Given the description of an element on the screen output the (x, y) to click on. 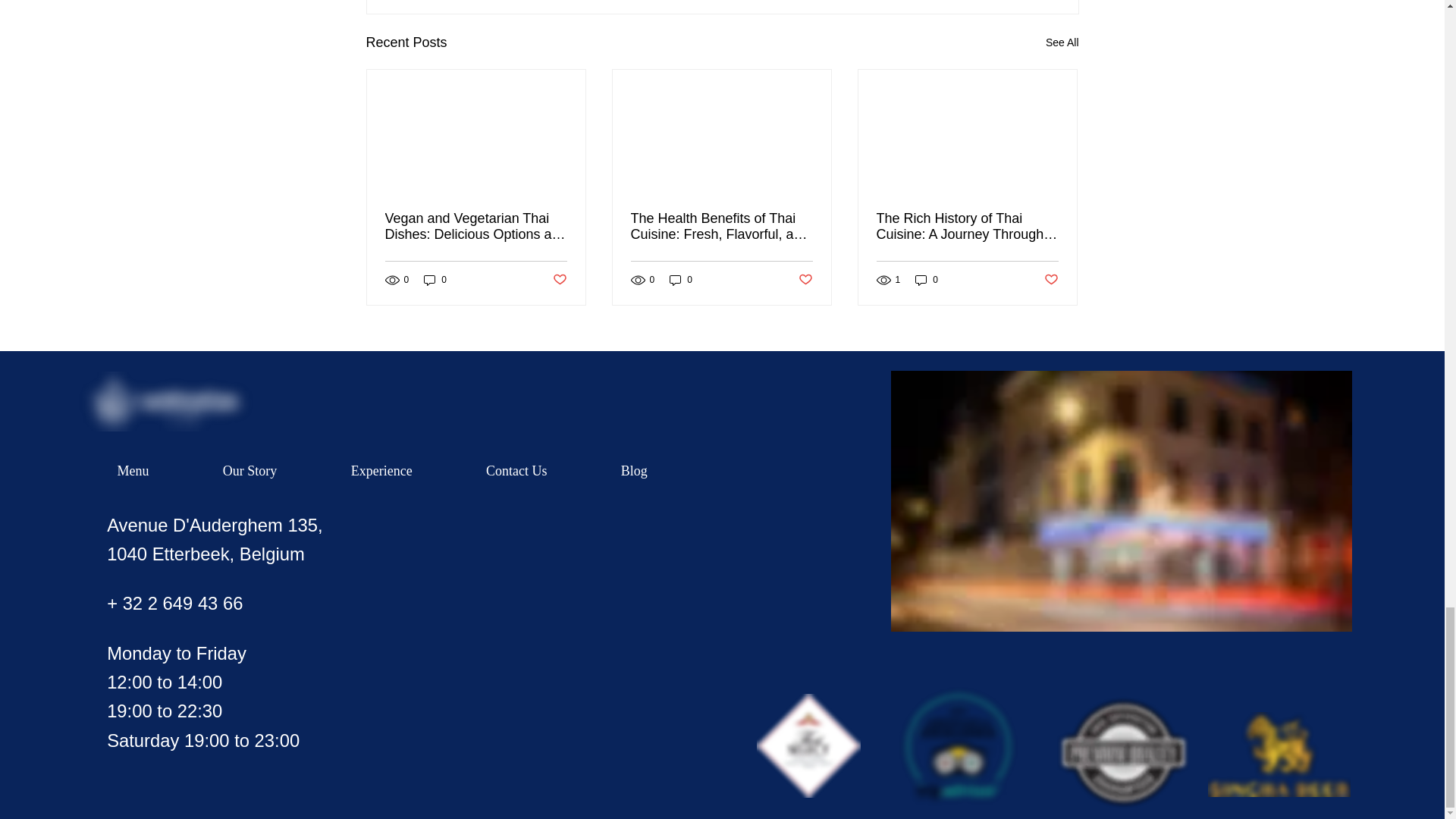
Post not marked as liked (804, 279)
0 (681, 279)
See All (1061, 42)
Post not marked as liked (558, 279)
Post not marked as liked (1050, 279)
0 (435, 279)
0 (926, 279)
